Given the description of an element on the screen output the (x, y) to click on. 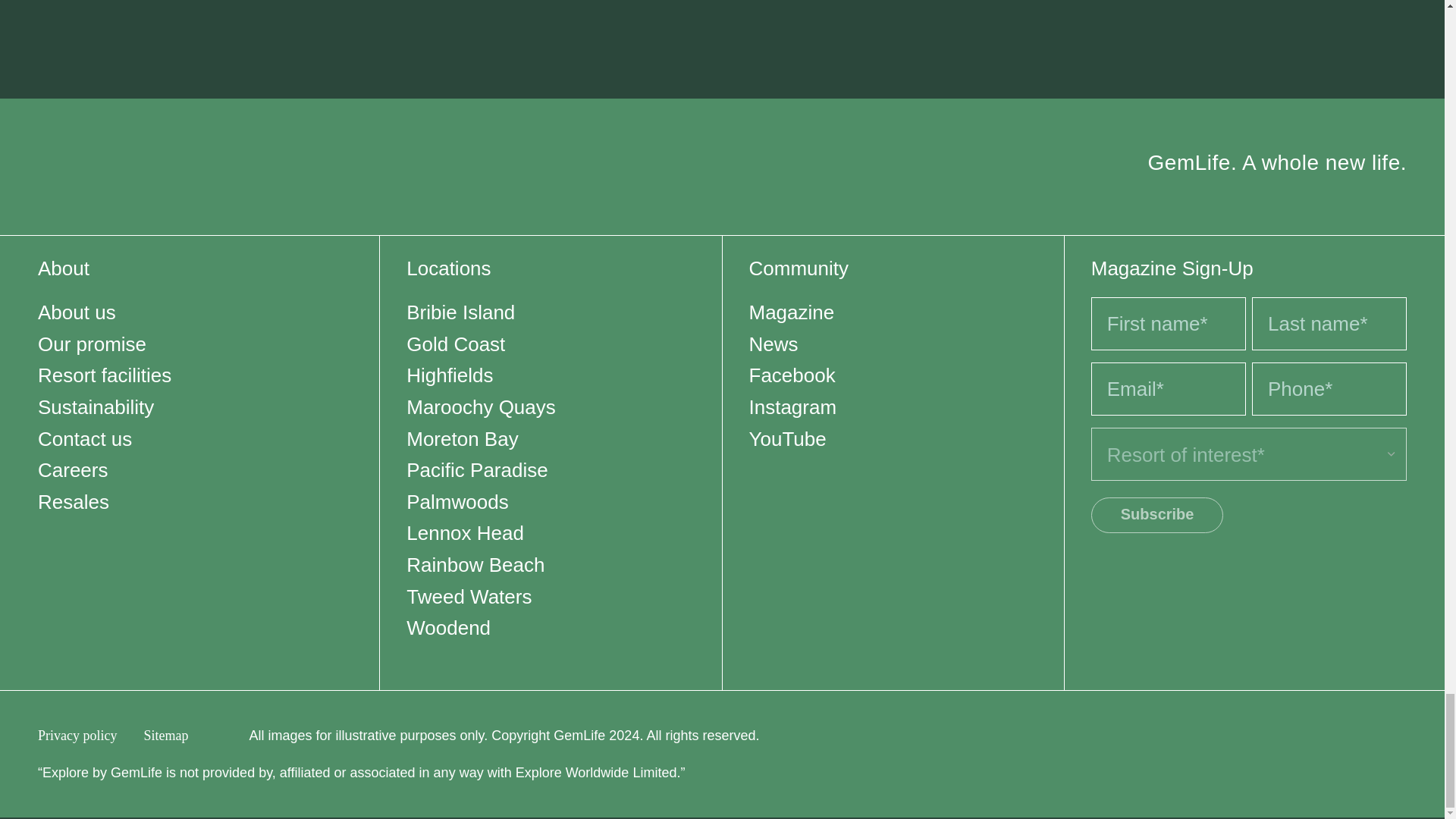
Subscribe (1157, 515)
